Given the description of an element on the screen output the (x, y) to click on. 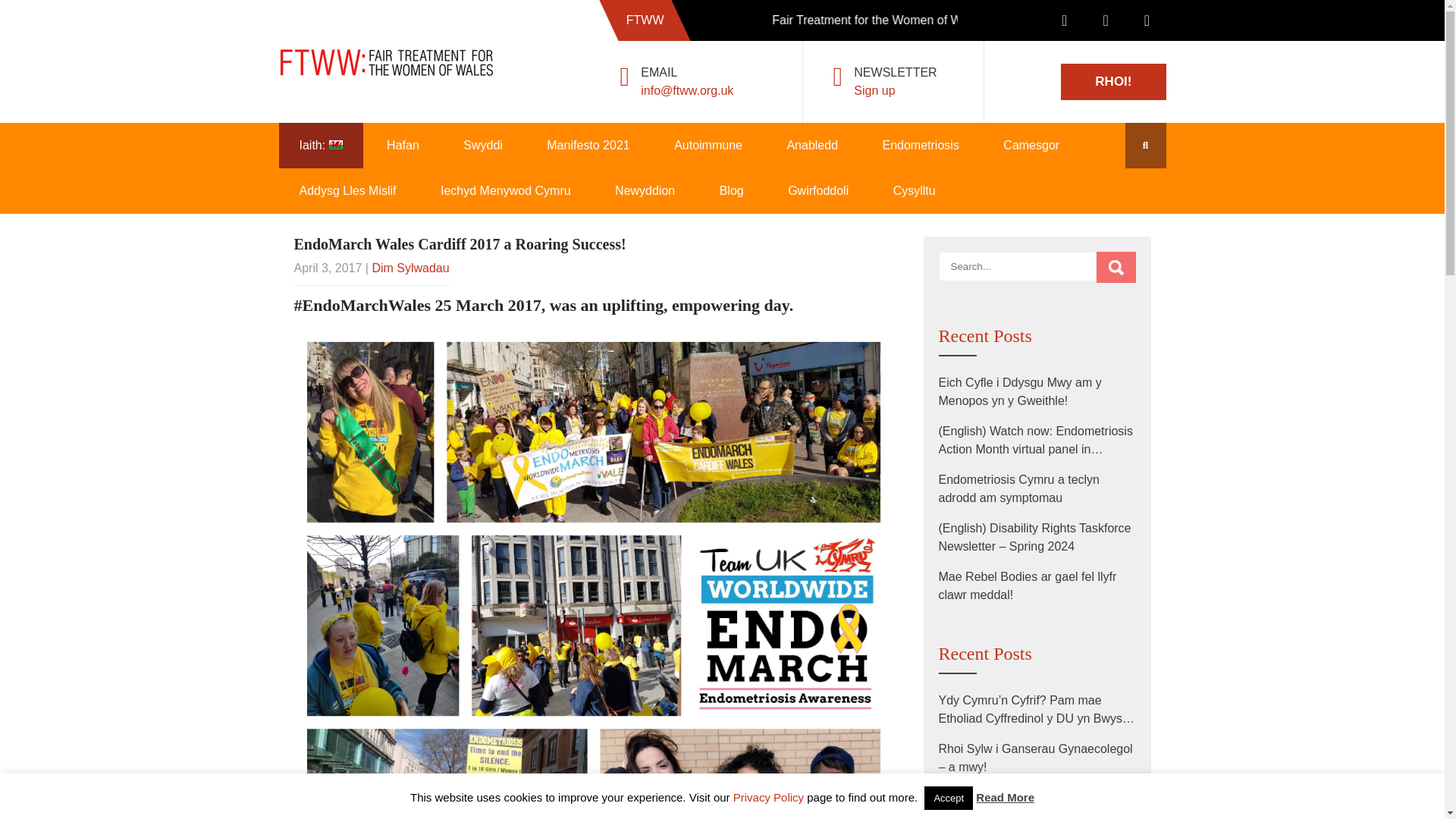
Hafan (402, 145)
Cymraeg (320, 145)
Sign up (874, 90)
fab fa-instagram fa-2x (1147, 22)
fab fa-twitter (1105, 22)
Search (1115, 266)
Search (1115, 266)
Swyddi (482, 145)
fab fa-facebook-f (1064, 22)
Endometriosis (919, 145)
Autoimmune (707, 145)
Iaith:  (320, 145)
Anabledd (812, 145)
Manifesto 2021 (587, 145)
Camesgor (1031, 145)
